Given the description of an element on the screen output the (x, y) to click on. 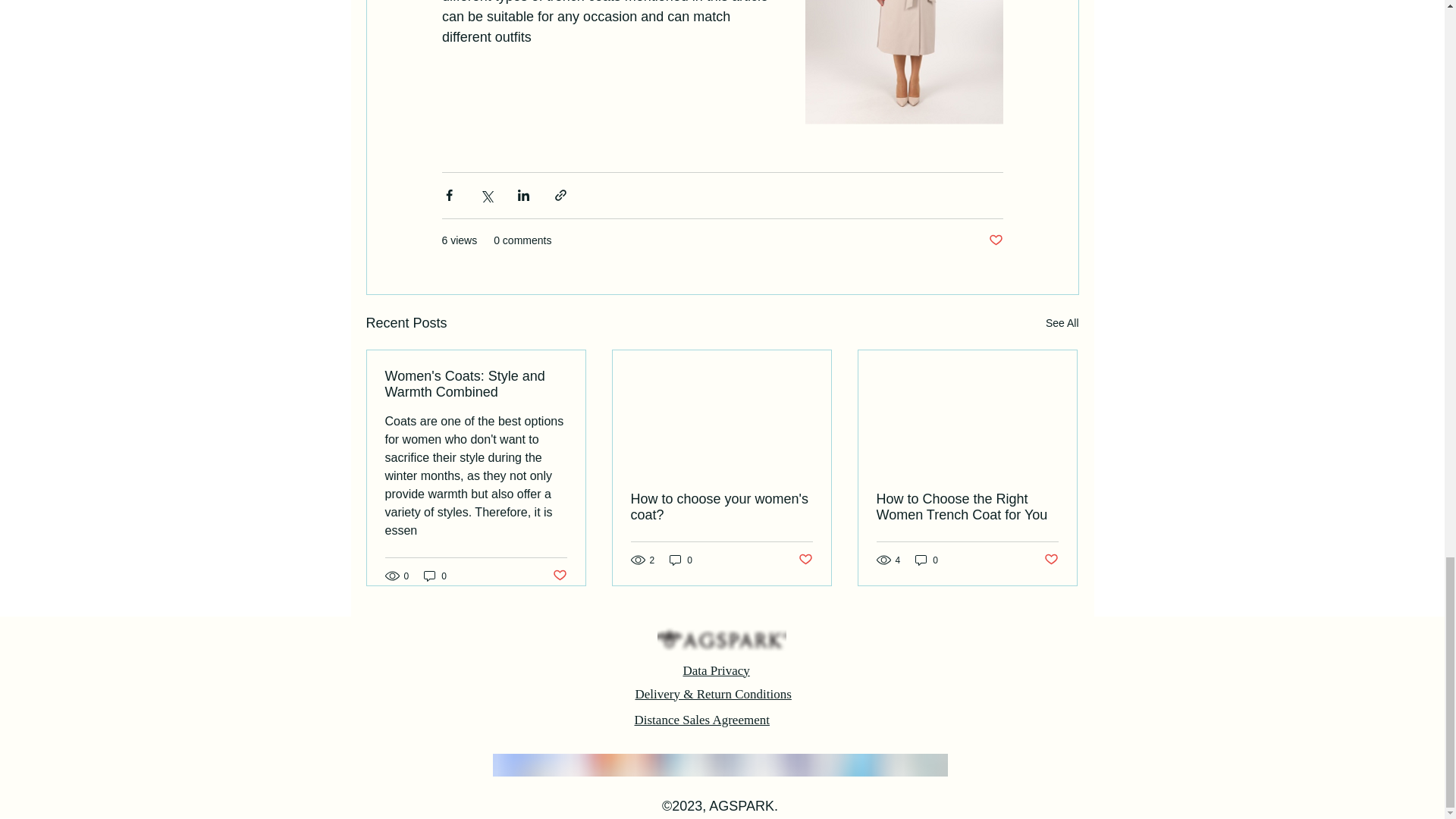
Distance Sales Agreement (700, 719)
AgsLogoVector.png (721, 638)
See All (1061, 323)
Post not marked as liked (1050, 560)
Post not marked as liked (804, 560)
Post not marked as liked (558, 575)
How to Choose the Right Women Trench Coat for You (967, 507)
Post not marked as liked (995, 240)
0 (435, 575)
Data Privacy (715, 670)
